Given the description of an element on the screen output the (x, y) to click on. 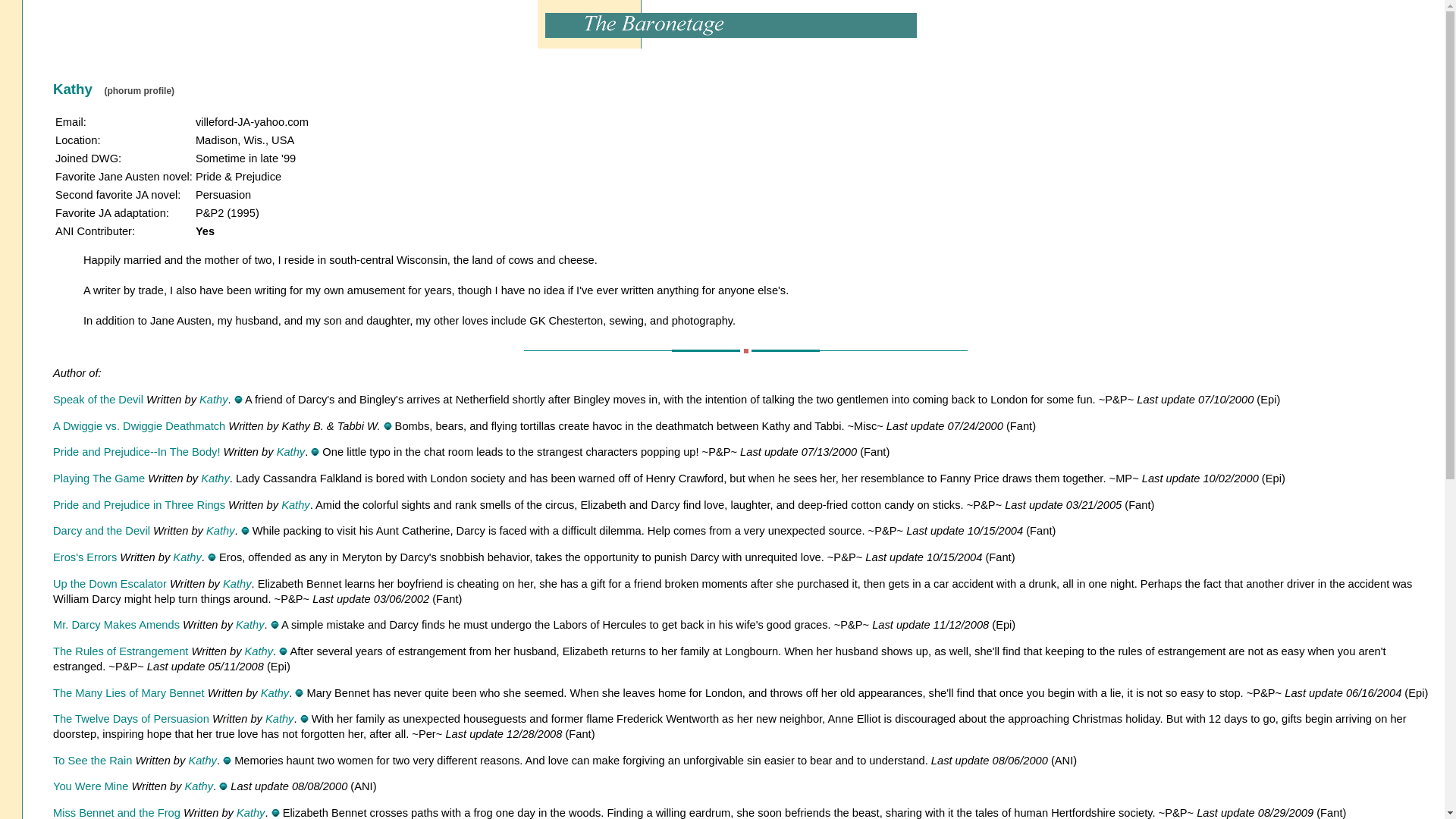
To See the Rain (92, 760)
Kathy (279, 718)
Kathy (236, 583)
Kathy (213, 399)
Kathy (249, 812)
Kathy (249, 624)
You Were Mine (90, 786)
Mr. Darcy Makes Amends (115, 624)
The Rules of Estrangement (119, 651)
Kathy (290, 451)
Pride and Prejudice--In The Body! (136, 451)
Speak of the Devil (97, 399)
Kathy (220, 530)
Playing The Game (98, 478)
The Twelve Days of Persuasion (130, 718)
